Given the description of an element on the screen output the (x, y) to click on. 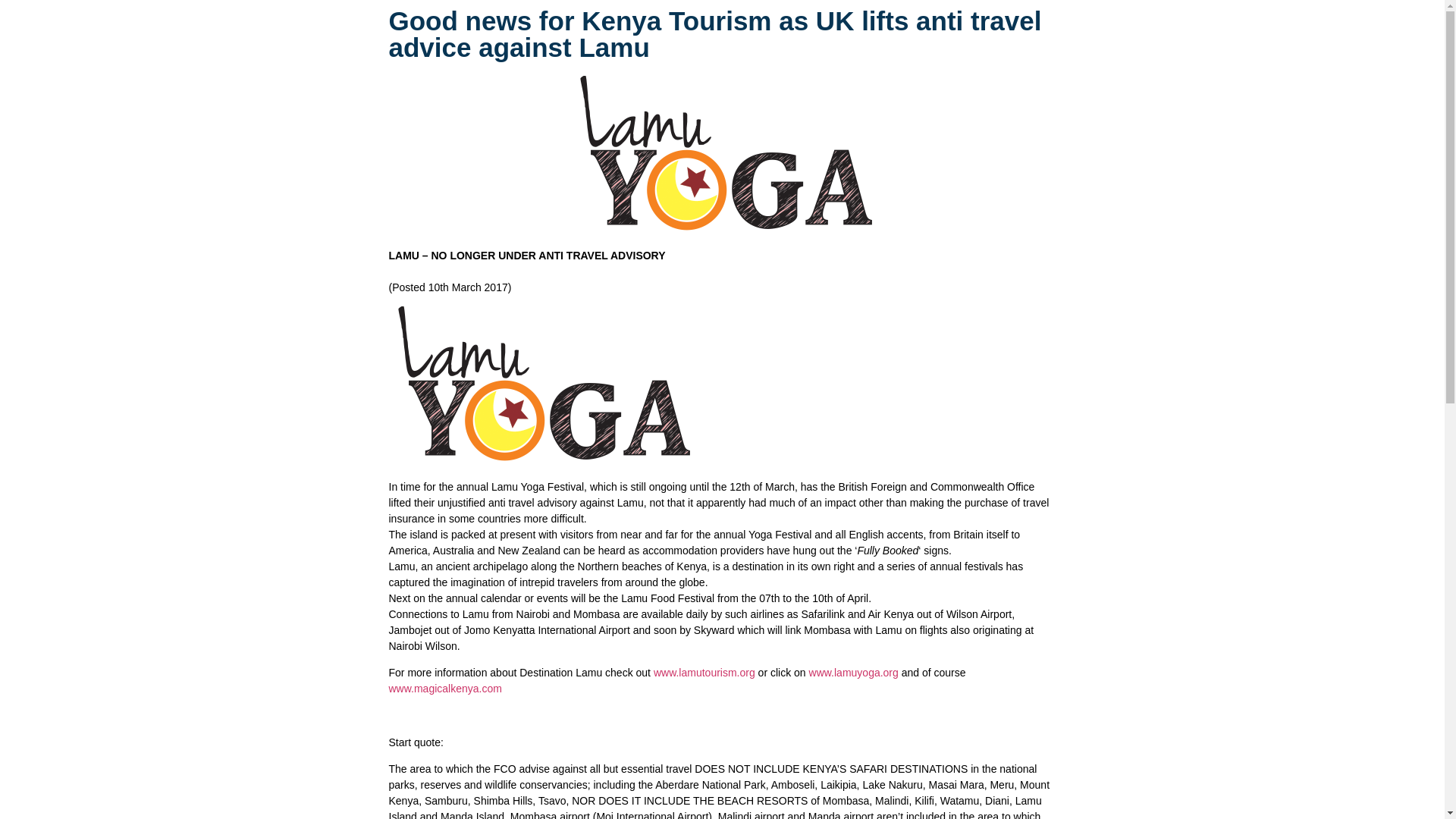
www.lamuyoga.org (853, 672)
www.lamutourism.org (704, 672)
www.magicalkenya.com (444, 688)
